Given the description of an element on the screen output the (x, y) to click on. 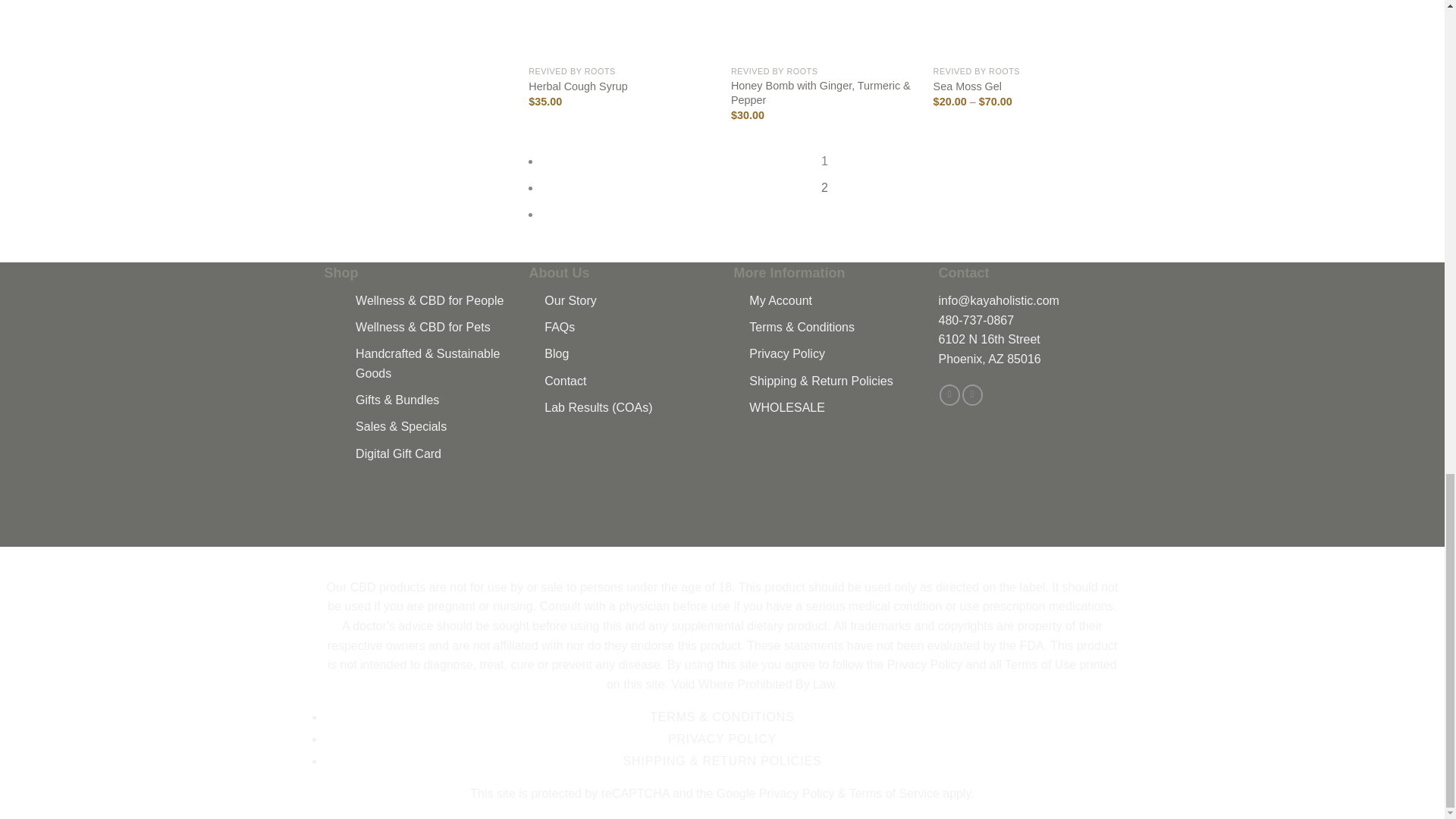
Follow on Instagram (972, 394)
Follow on Facebook (949, 394)
